Given the description of an element on the screen output the (x, y) to click on. 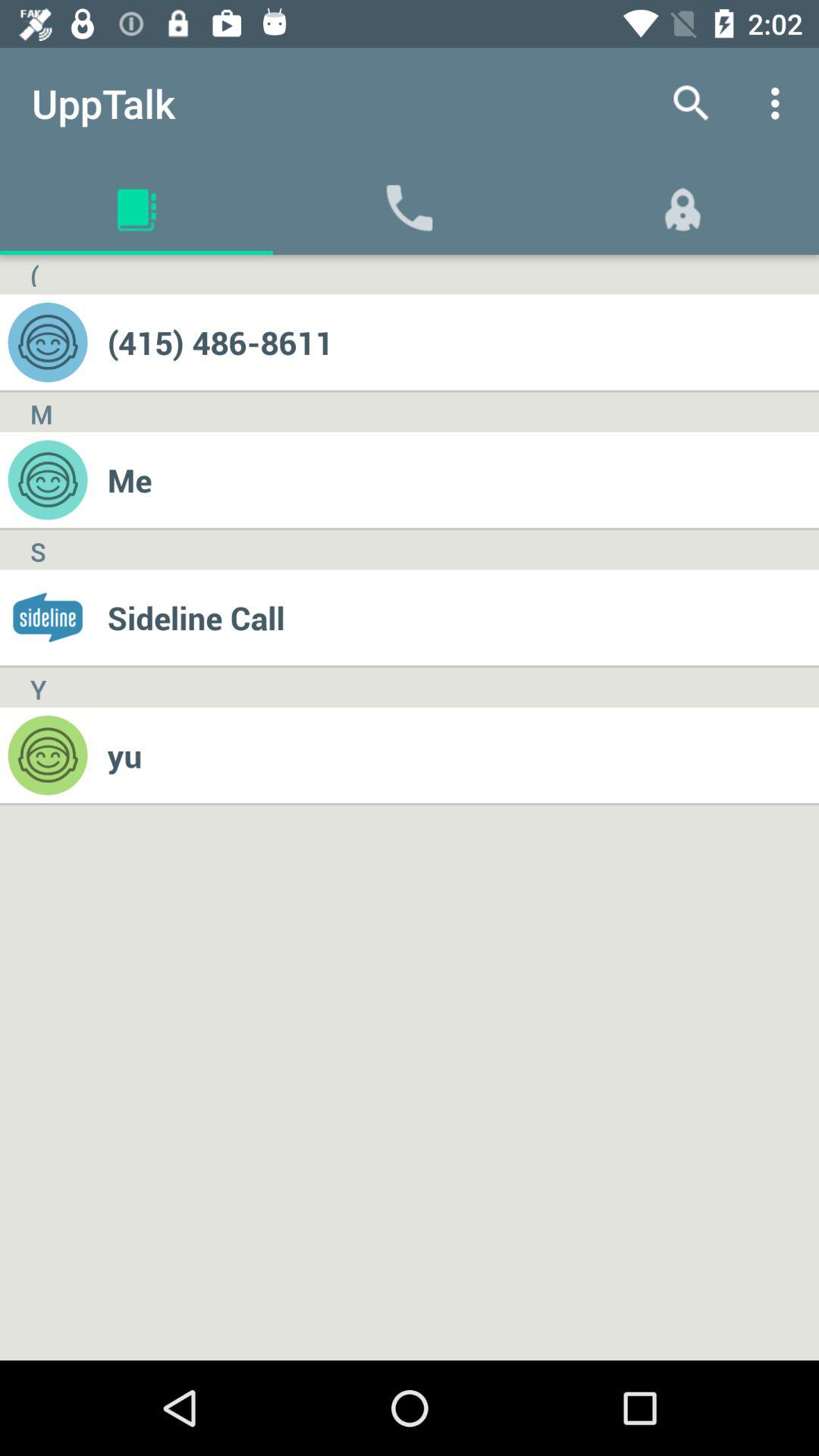
choose the item below the me icon (463, 617)
